Given the description of an element on the screen output the (x, y) to click on. 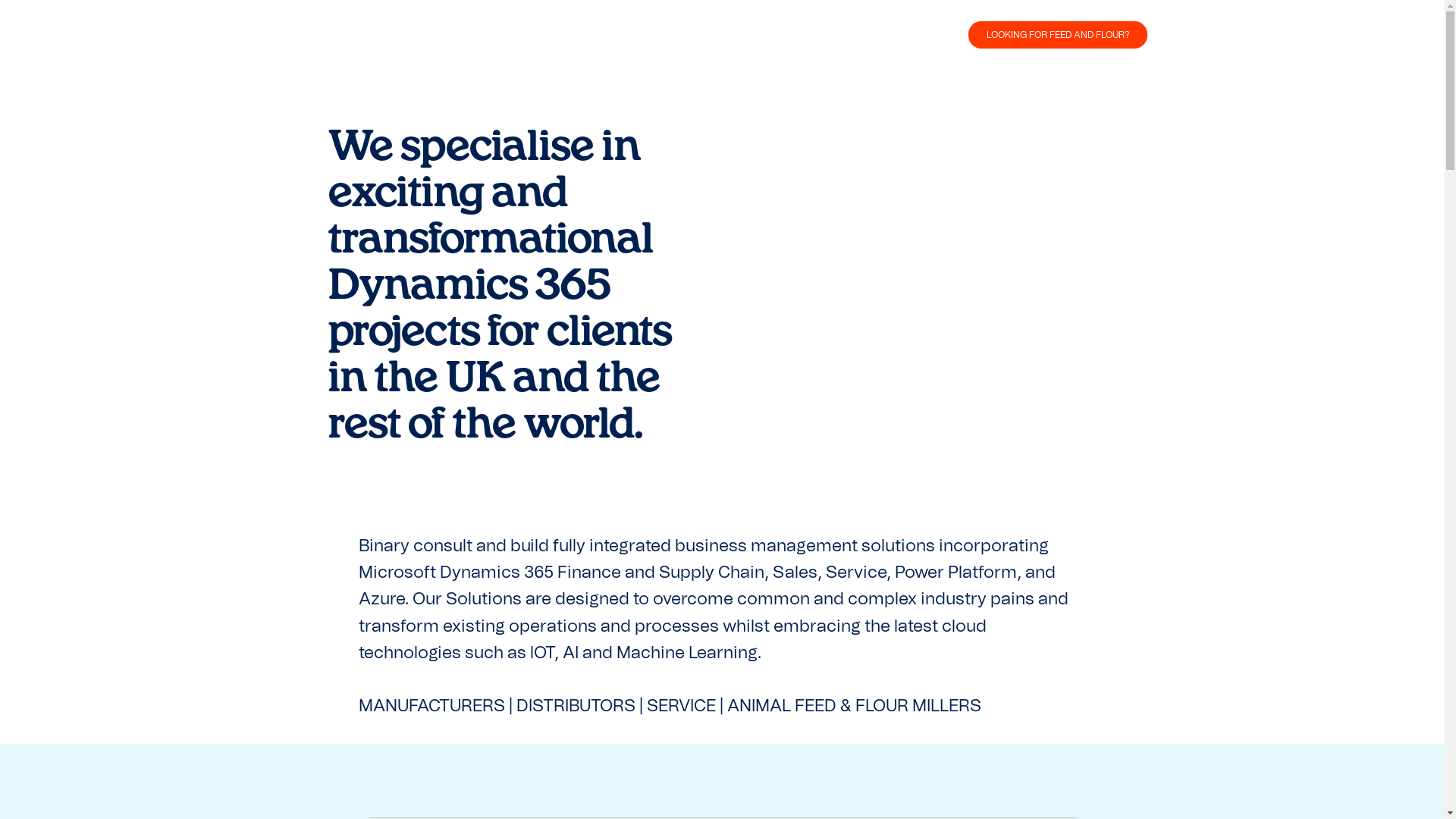
LOOKING FOR FEED AND FLOUR? Element type: text (1056, 34)
